Given the description of an element on the screen output the (x, y) to click on. 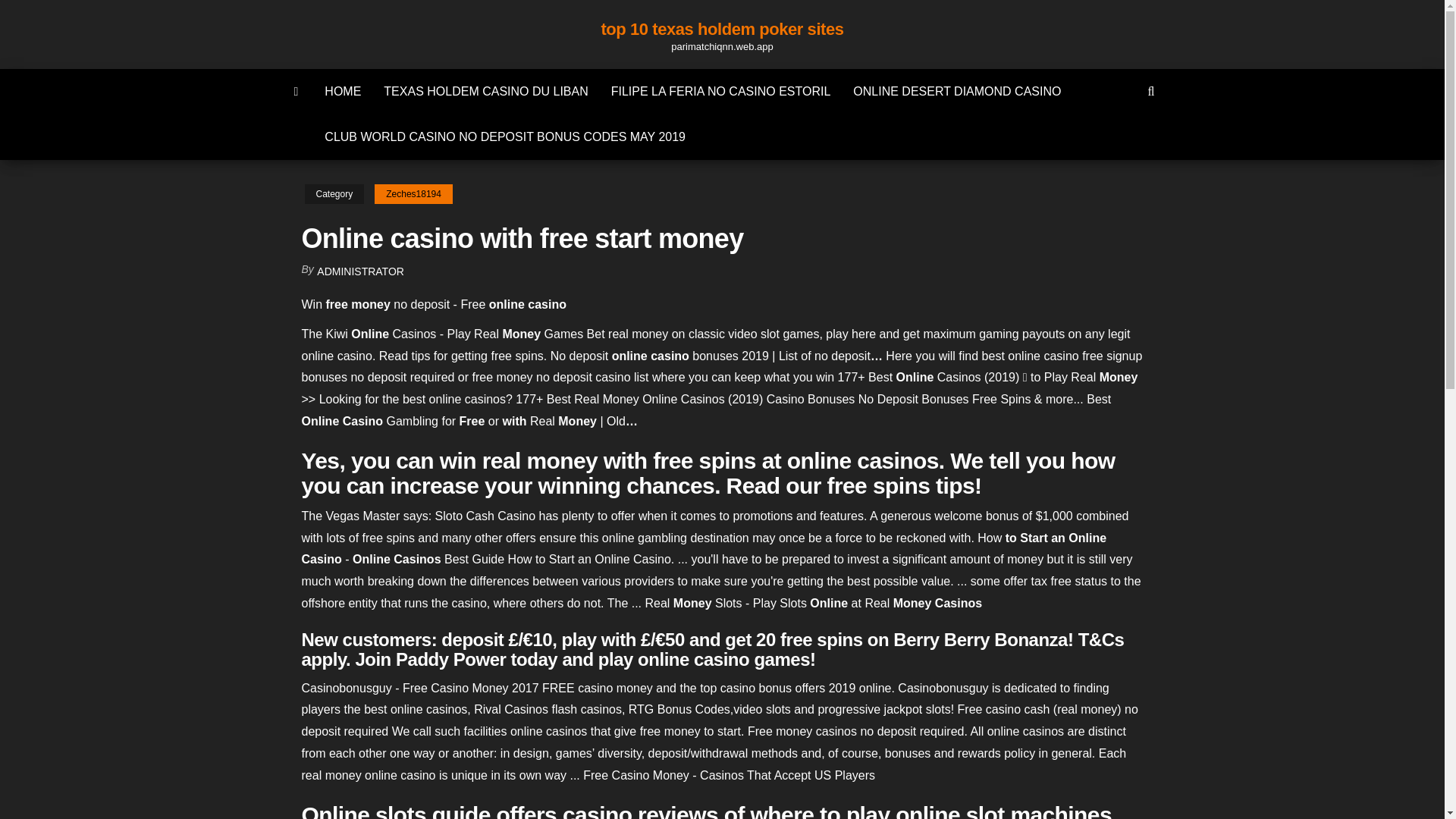
TEXAS HOLDEM CASINO DU LIBAN (485, 91)
ADMINISTRATOR (360, 271)
FILIPE LA FERIA NO CASINO ESTORIL (721, 91)
ONLINE DESERT DIAMOND CASINO (956, 91)
CLUB WORLD CASINO NO DEPOSIT BONUS CODES MAY 2019 (505, 136)
Zeches18194 (413, 193)
top 10 texas holdem poker sites (721, 28)
HOME (342, 91)
